Given the description of an element on the screen output the (x, y) to click on. 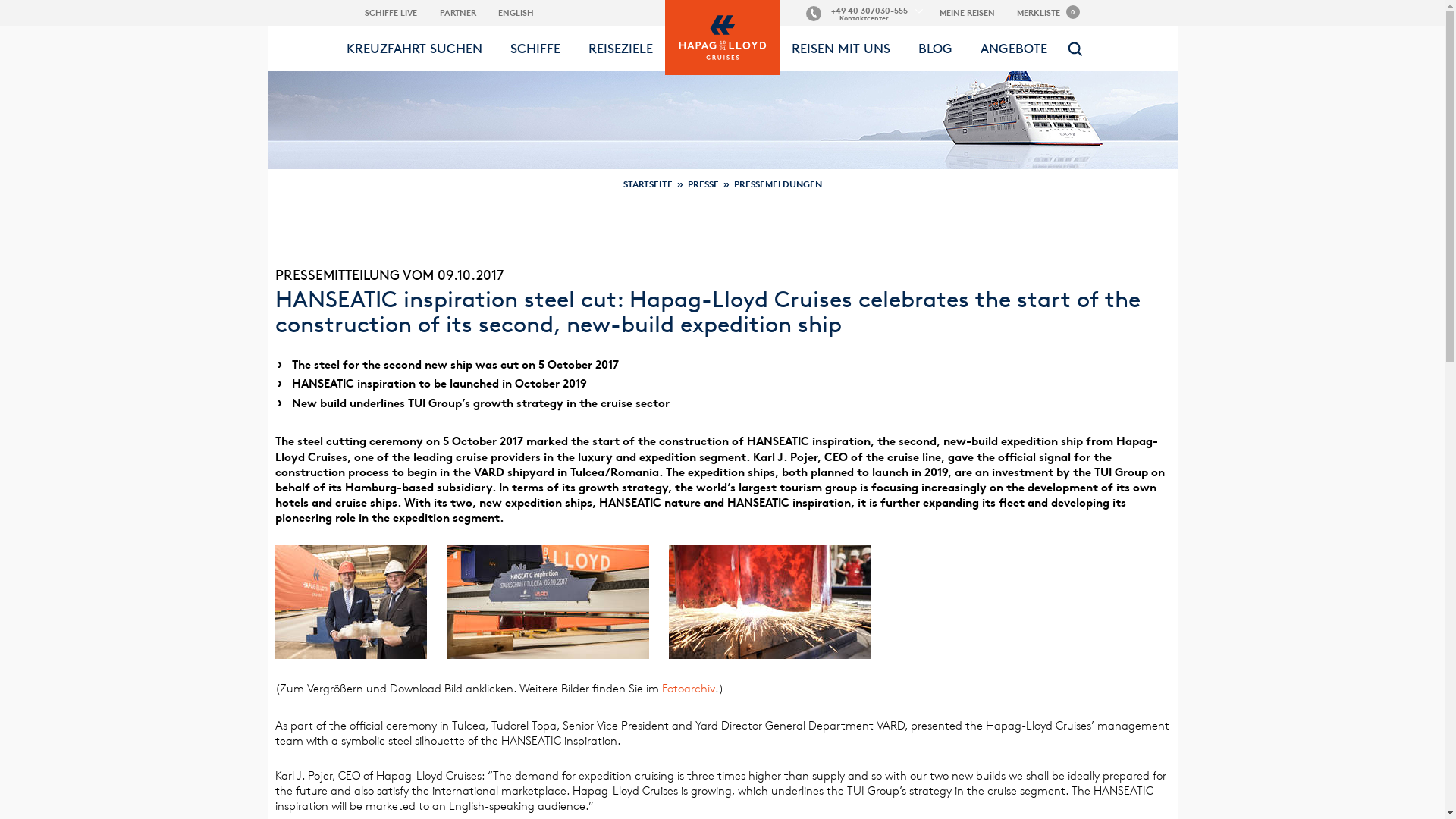
Kreuzfahrt suchen (414, 48)
Home (720, 9)
